Given the description of an element on the screen output the (x, y) to click on. 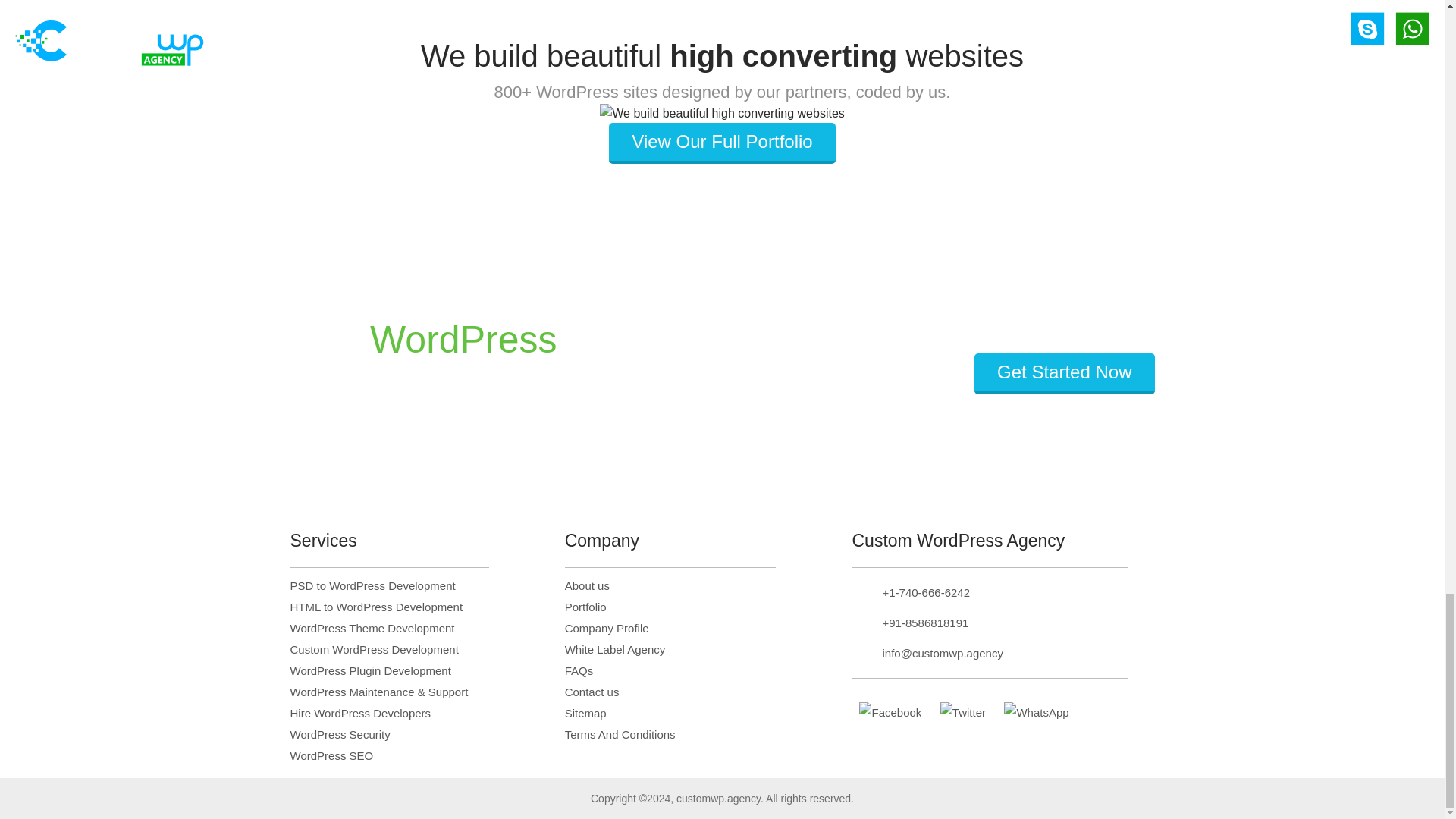
Company Profile (606, 627)
WordPress SEO (330, 755)
WhatsApp (1036, 711)
About us (587, 585)
Contact us (592, 691)
Hire WordPress Developers (359, 712)
WordPress Theme Development (371, 627)
HTML to WordPress Development (376, 606)
Custom WordPress Development (373, 649)
Portfolio (585, 606)
